Given the description of an element on the screen output the (x, y) to click on. 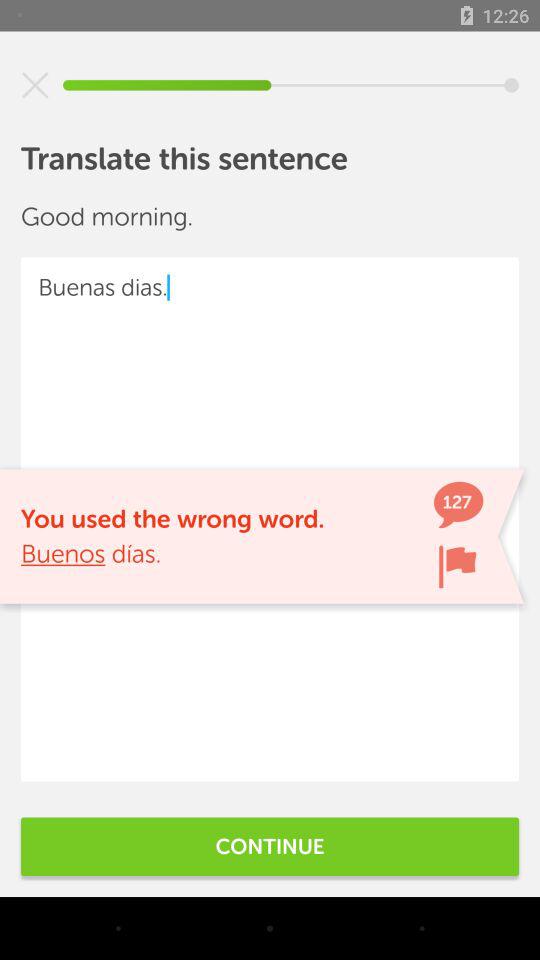
cancel (35, 85)
